Given the description of an element on the screen output the (x, y) to click on. 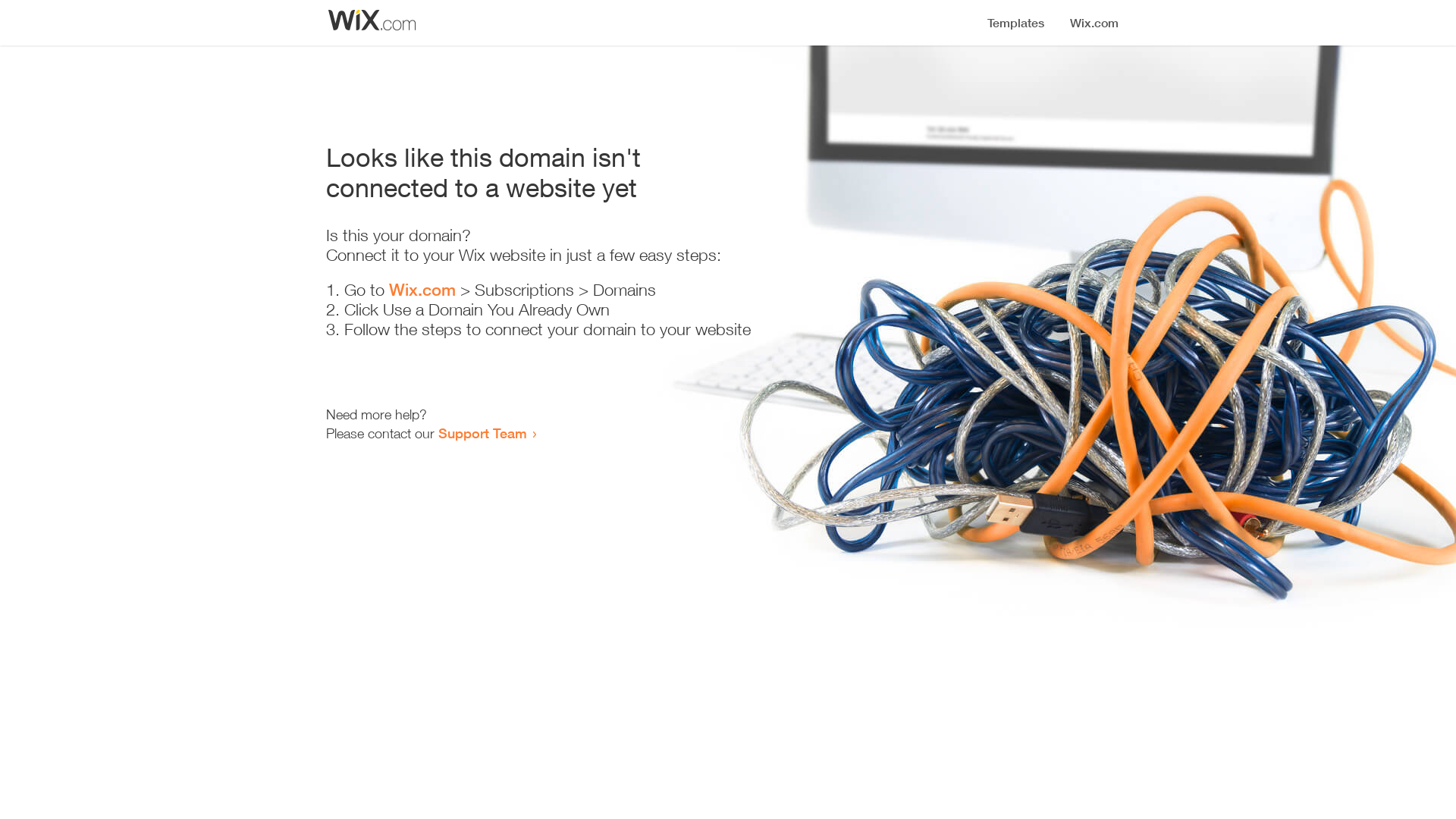
Support Team Element type: text (482, 432)
Wix.com Element type: text (422, 289)
